Given the description of an element on the screen output the (x, y) to click on. 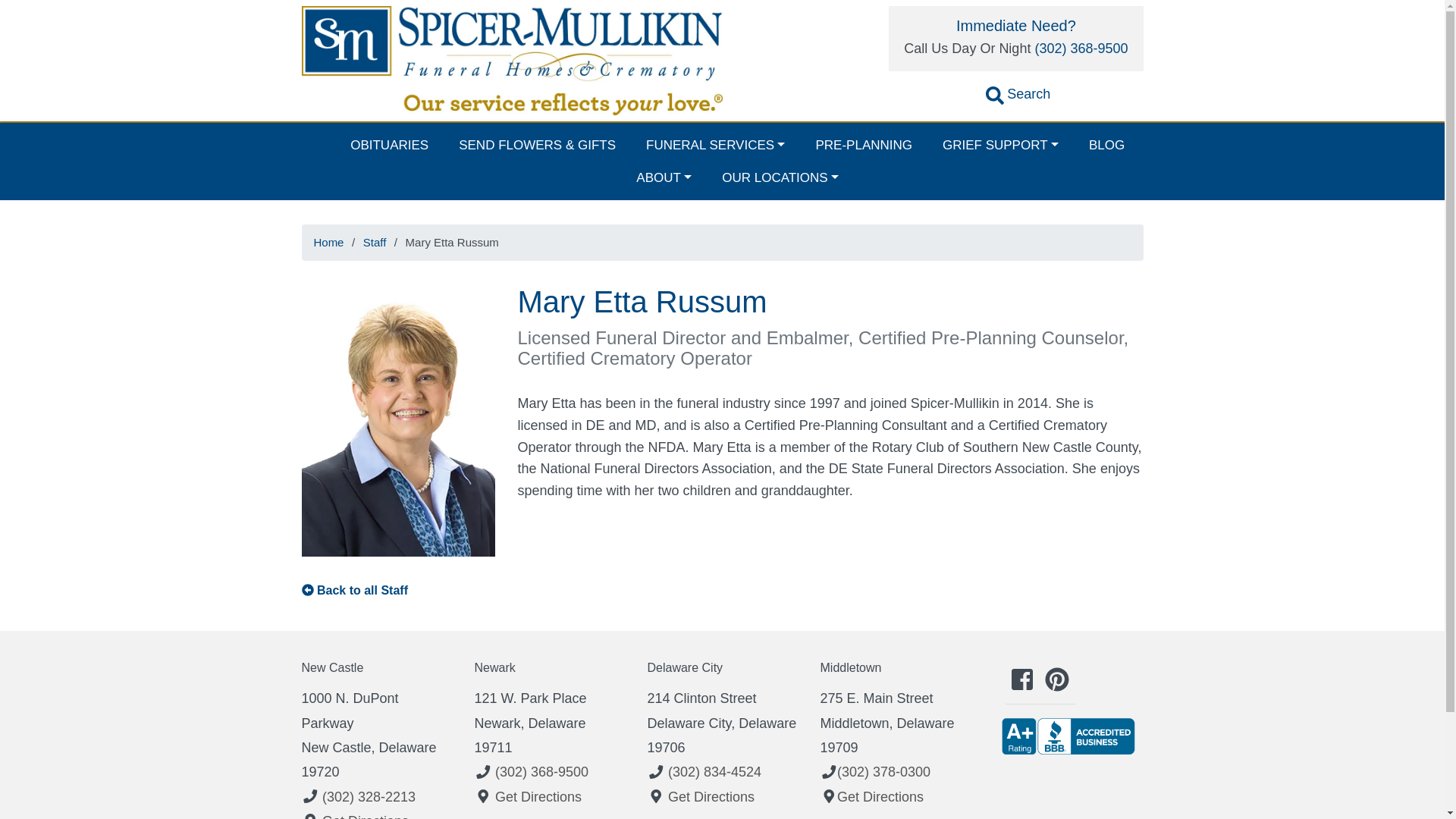
Get Directions (711, 796)
OBITUARIES (389, 144)
PRE-PLANNING (863, 144)
Search (1017, 97)
Back to all Staff (362, 590)
Get Directions (365, 816)
Get Directions (537, 796)
BLOG (1107, 144)
GRIEF SUPPORT (1000, 144)
ABOUT (663, 177)
Staff (374, 241)
Search this Site (1017, 97)
Home (328, 241)
FUNERAL SERVICES (714, 144)
OUR LOCATIONS (779, 177)
